Given the description of an element on the screen output the (x, y) to click on. 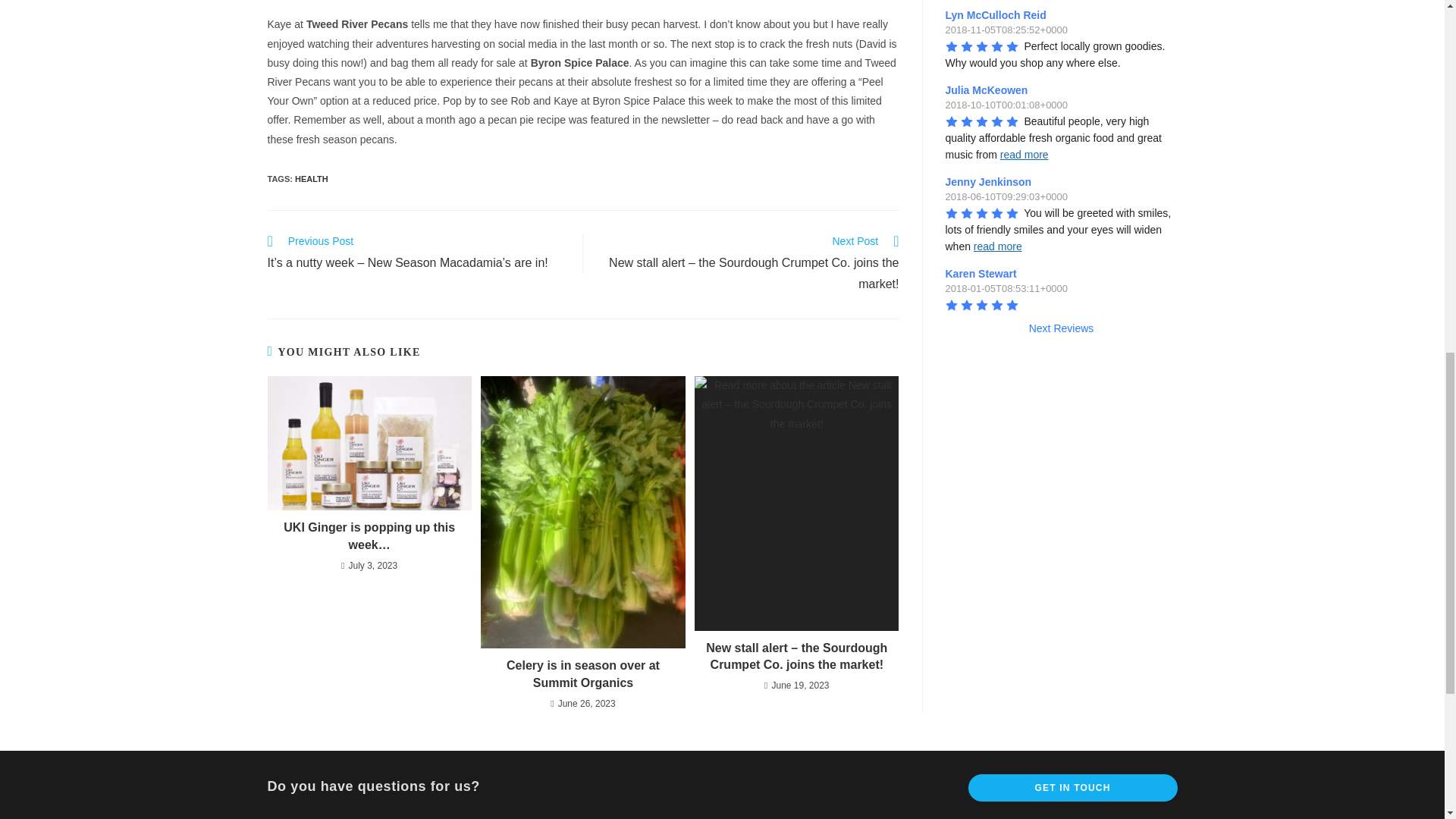
Jenny Jenkinson (989, 182)
Julia McKeowen (988, 90)
Lyn McCulloch Reid (996, 15)
HEALTH (312, 178)
Celery is in season over at Summit Organics (582, 674)
